Given the description of an element on the screen output the (x, y) to click on. 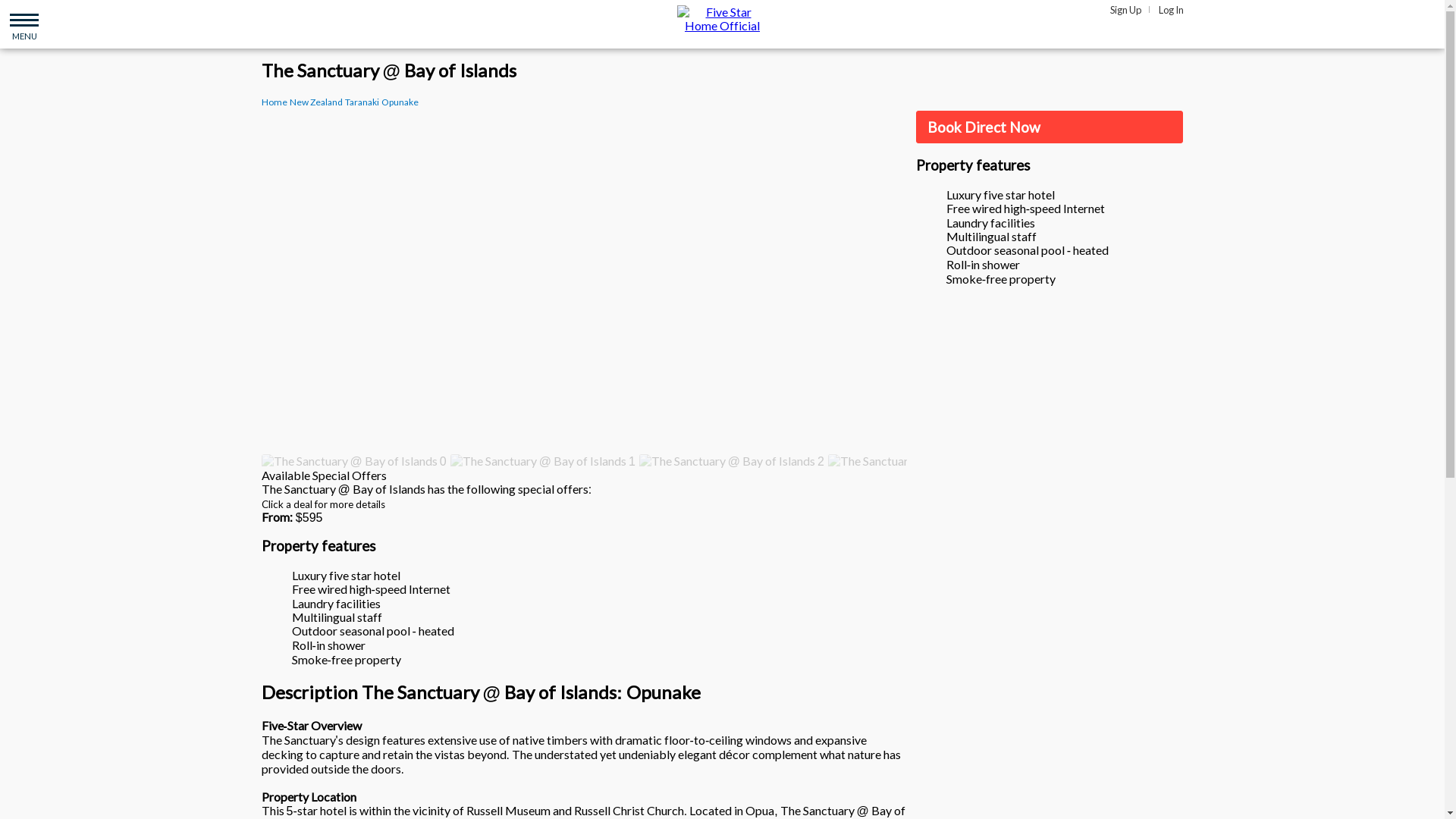
Book Direct Now (1049, 126)
5-Star Luxury Accommodation Worldwide (722, 18)
Opunake (398, 102)
Home (273, 102)
New Zealand (315, 102)
Taranaki (360, 102)
MENU (24, 24)
